Given the description of an element on the screen output the (x, y) to click on. 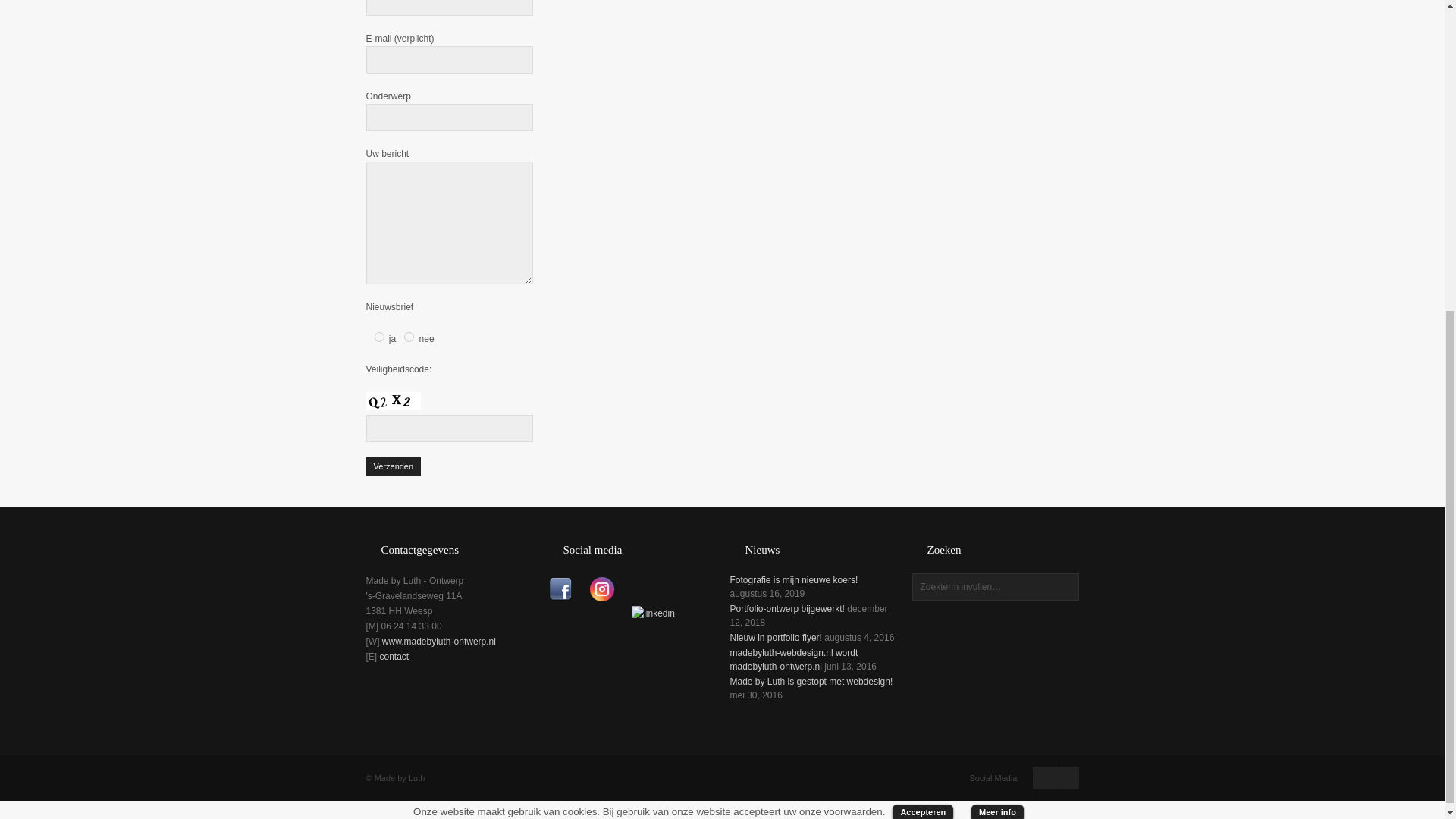
www.madebyluth-ontwerp.nl (438, 641)
Made by Luth is gestopt met webdesign! (810, 681)
madebyluth-webdesign.nl wordt madebyluth-ontwerp.nl (793, 659)
nee (408, 337)
Nieuw in portfolio flyer! (775, 637)
Verzenden (392, 466)
ja (379, 337)
Fotografie is mijn nieuwe koers! (793, 579)
Verzenden (392, 466)
contact (394, 656)
Portfolio-ontwerp bijgewerkt! (786, 608)
